Given the description of an element on the screen output the (x, y) to click on. 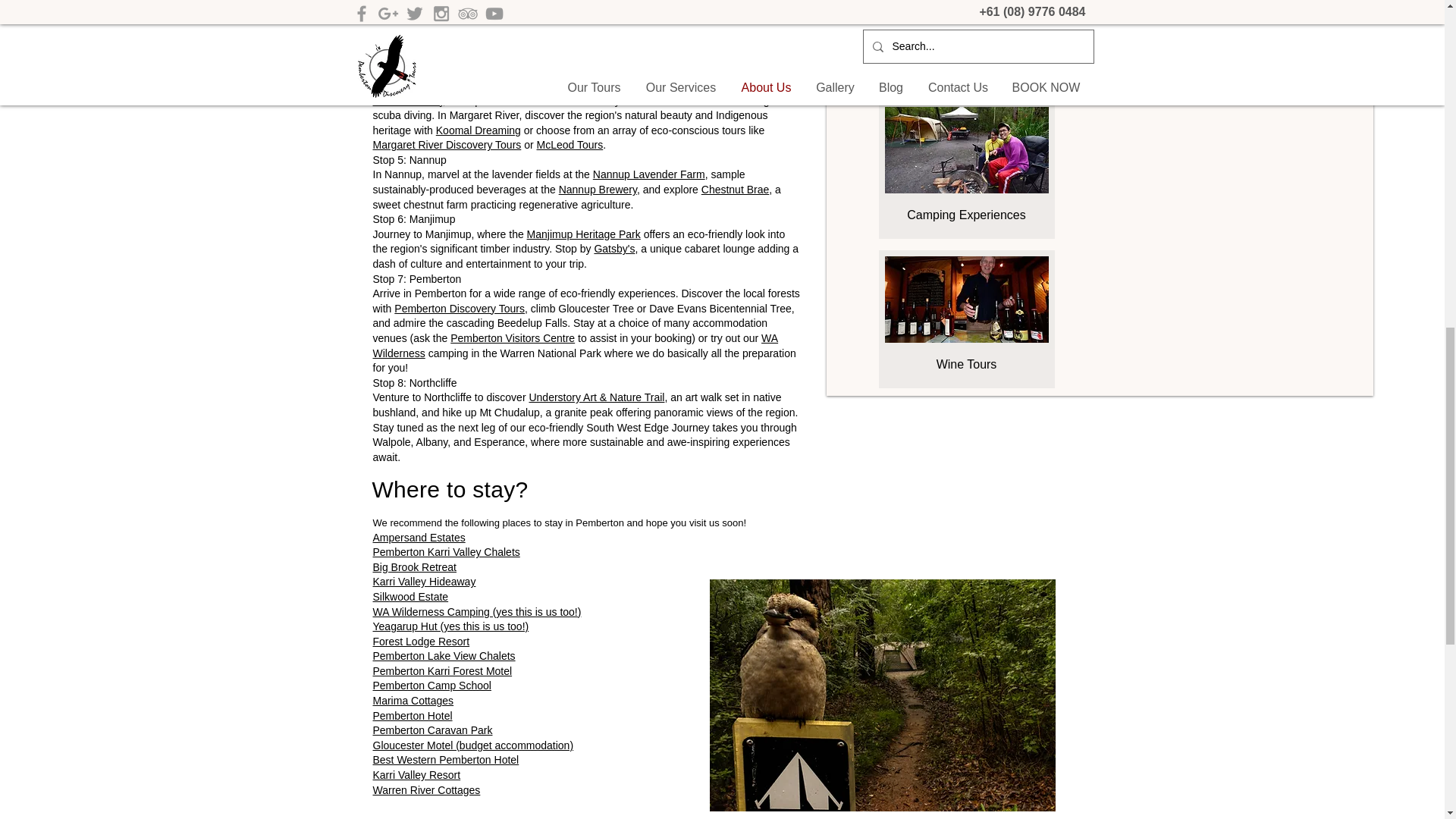
Busselton Jetty (408, 100)
Troy Bennell Tours (573, 40)
Dolphin Discovery Centre (734, 26)
